Given the description of an element on the screen output the (x, y) to click on. 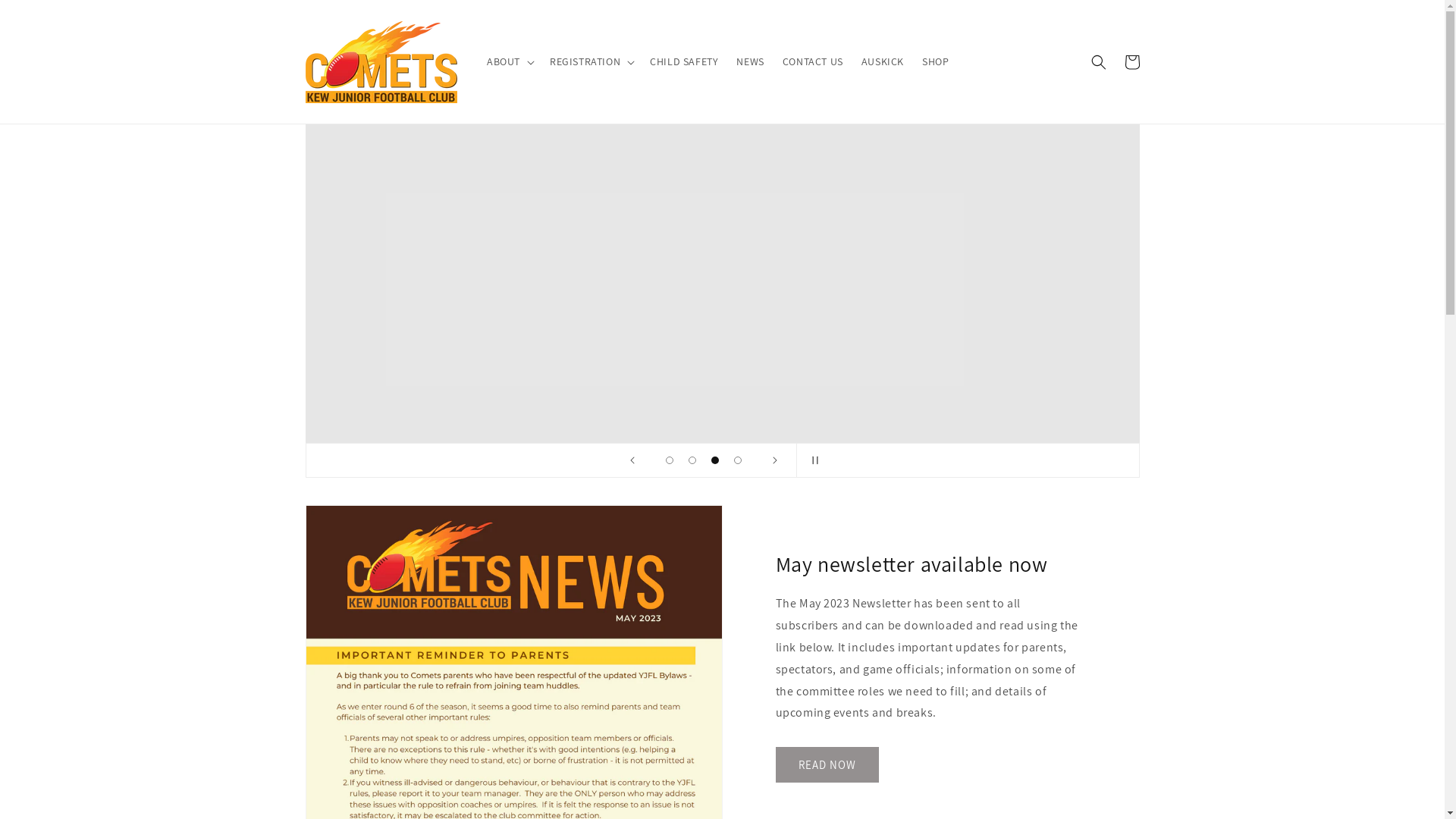
READ NOW Element type: text (826, 764)
SHOP Element type: text (935, 61)
AUSKICK Element type: text (882, 61)
Cart Element type: text (1131, 61)
CONTACT US Element type: text (812, 61)
NEWS Element type: text (749, 61)
CHILD SAFETY Element type: text (683, 61)
